Given the description of an element on the screen output the (x, y) to click on. 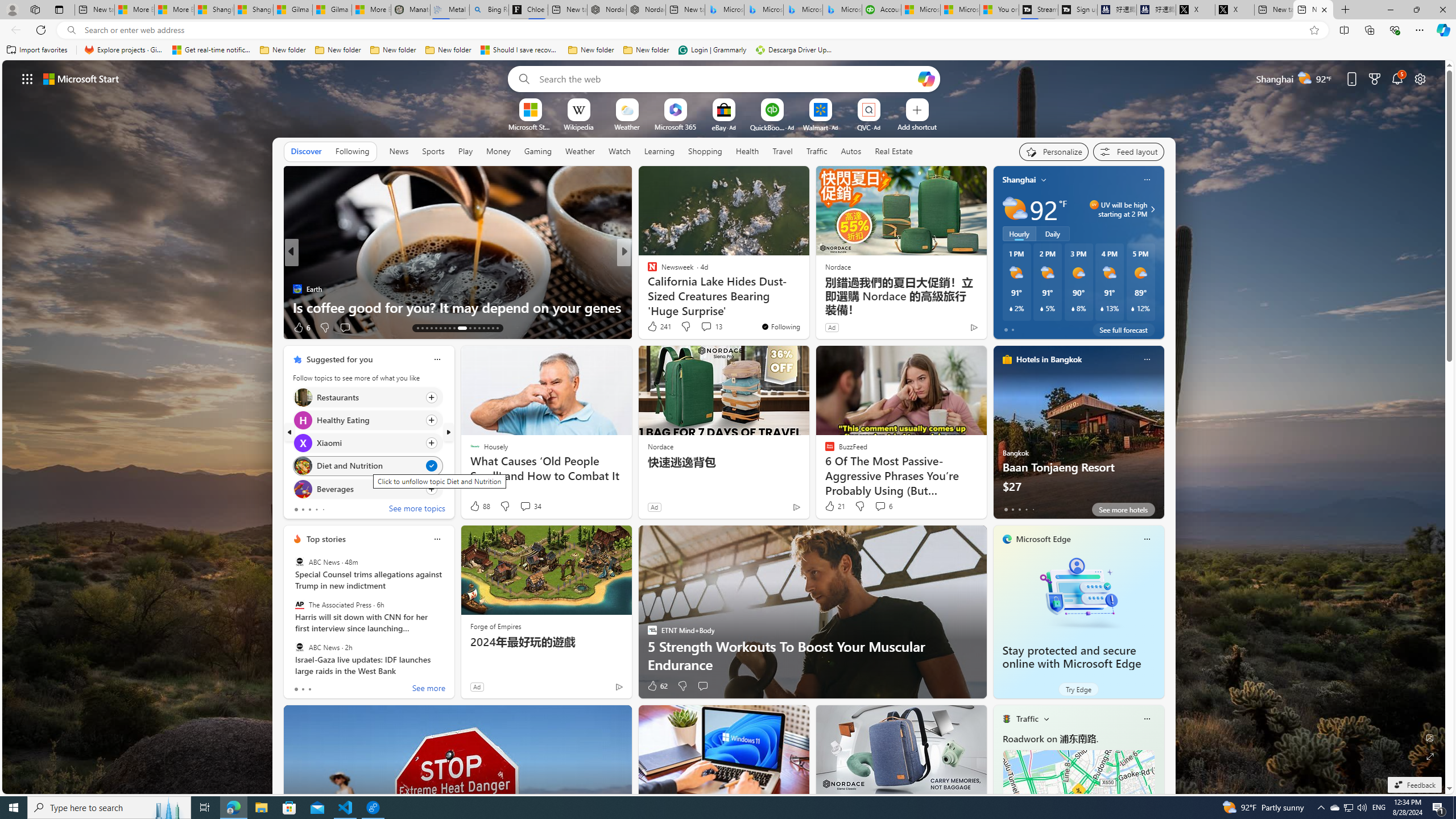
Autos (851, 151)
Microsoft Edge (1043, 538)
16 Like (652, 327)
Top stories (325, 538)
Gaming (537, 151)
Copilot (Ctrl+Shift+.) (1442, 29)
Stay protected and secure online with Microsoft Edge (1071, 657)
Sports (432, 151)
21 Like (834, 505)
Learning (659, 151)
AutomationID: tab-16 (431, 328)
View comments 22 Comment (707, 327)
Personal Profile (12, 9)
